Given the description of an element on the screen output the (x, y) to click on. 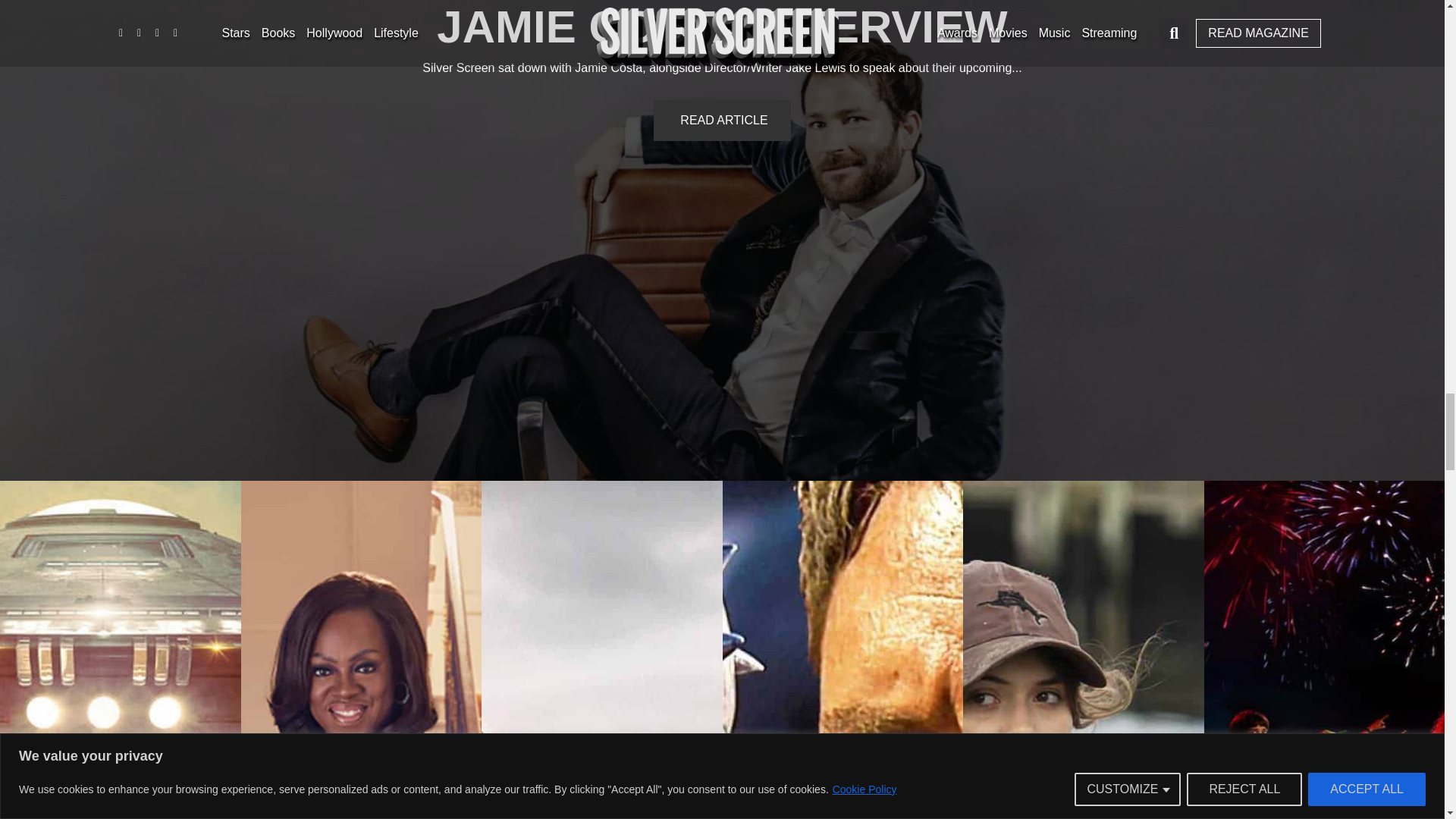
Jamie Costa Interview (721, 26)
